Given the description of an element on the screen output the (x, y) to click on. 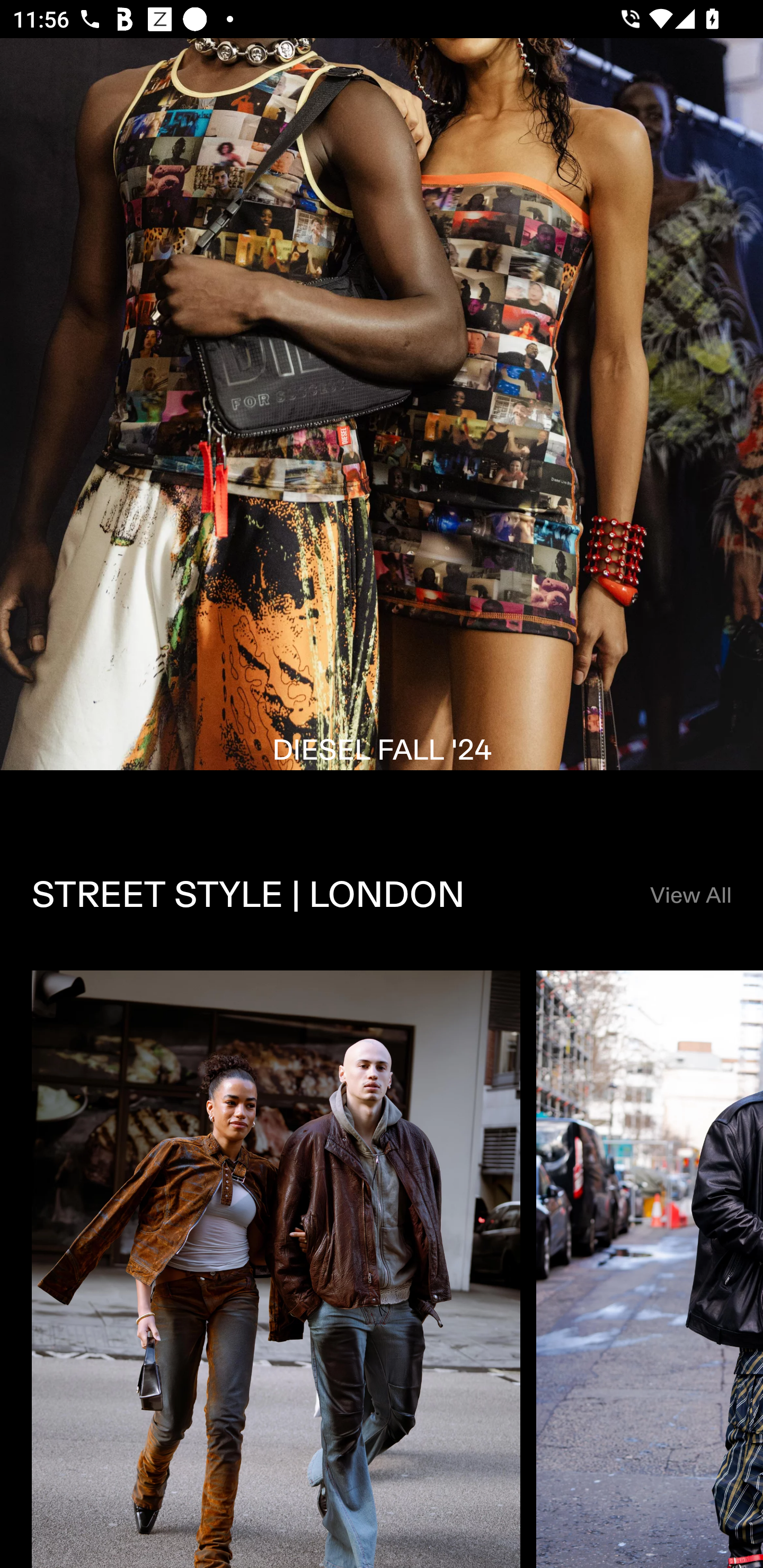
FIRST LOOKS DIESEL FALL '24 (381, 429)
View All (690, 895)
